Given the description of an element on the screen output the (x, y) to click on. 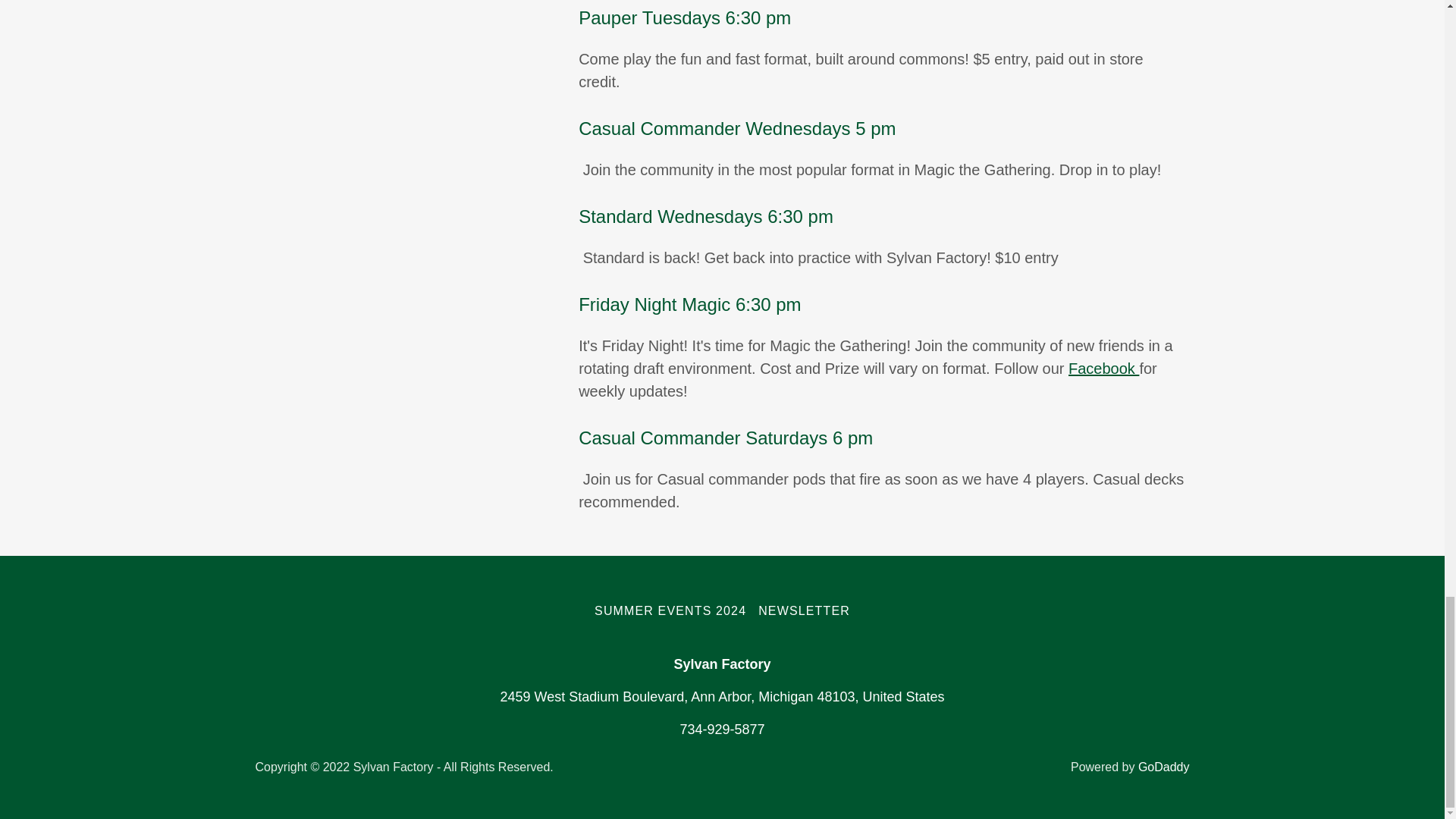
GoDaddy (1163, 766)
SUMMER EVENTS 2024 (670, 611)
734-929-5877 (721, 729)
NEWSLETTER (804, 611)
Facebook (1103, 368)
